Given the description of an element on the screen output the (x, y) to click on. 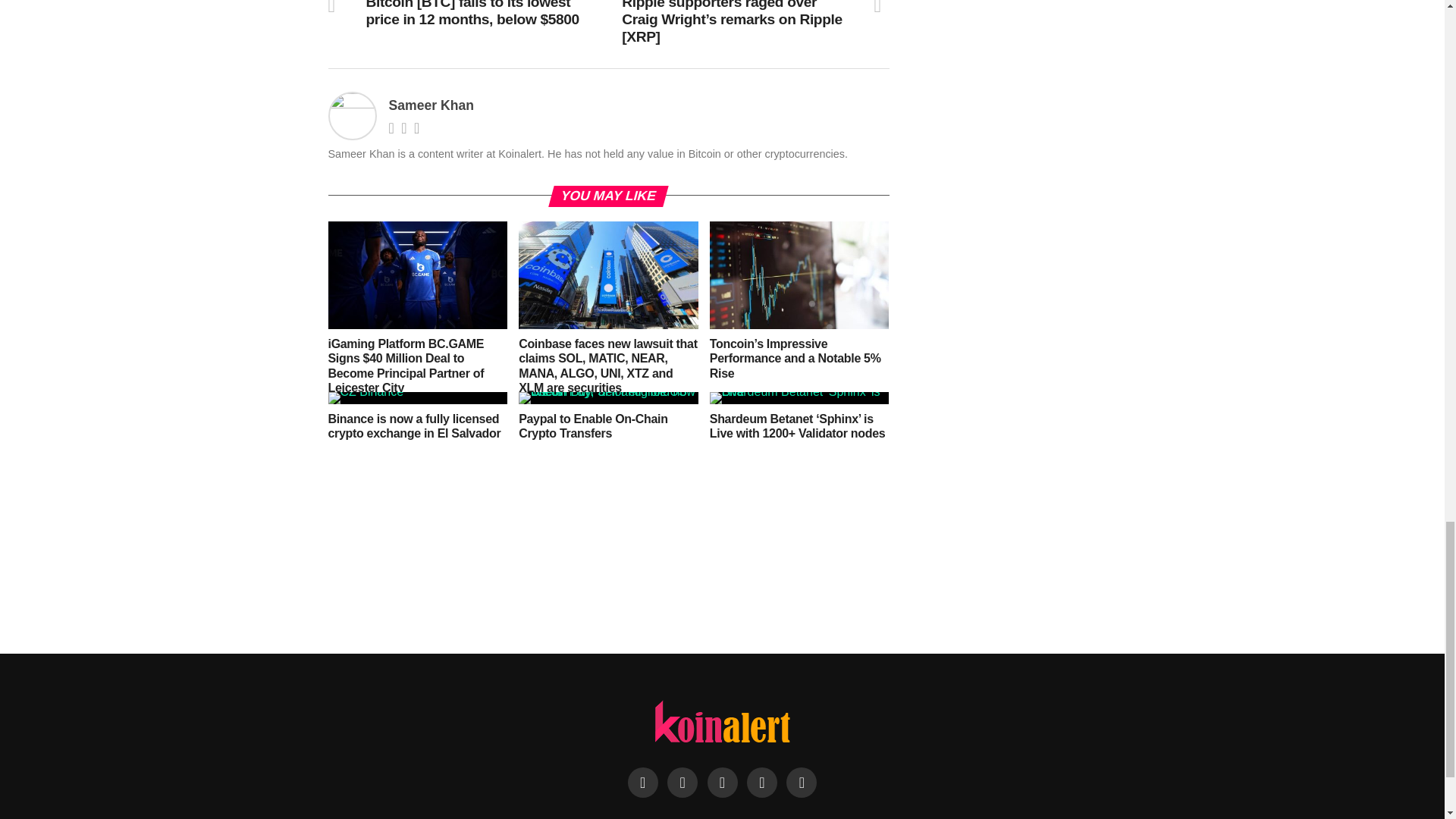
Posts by Sameer Khan (430, 105)
